Given the description of an element on the screen output the (x, y) to click on. 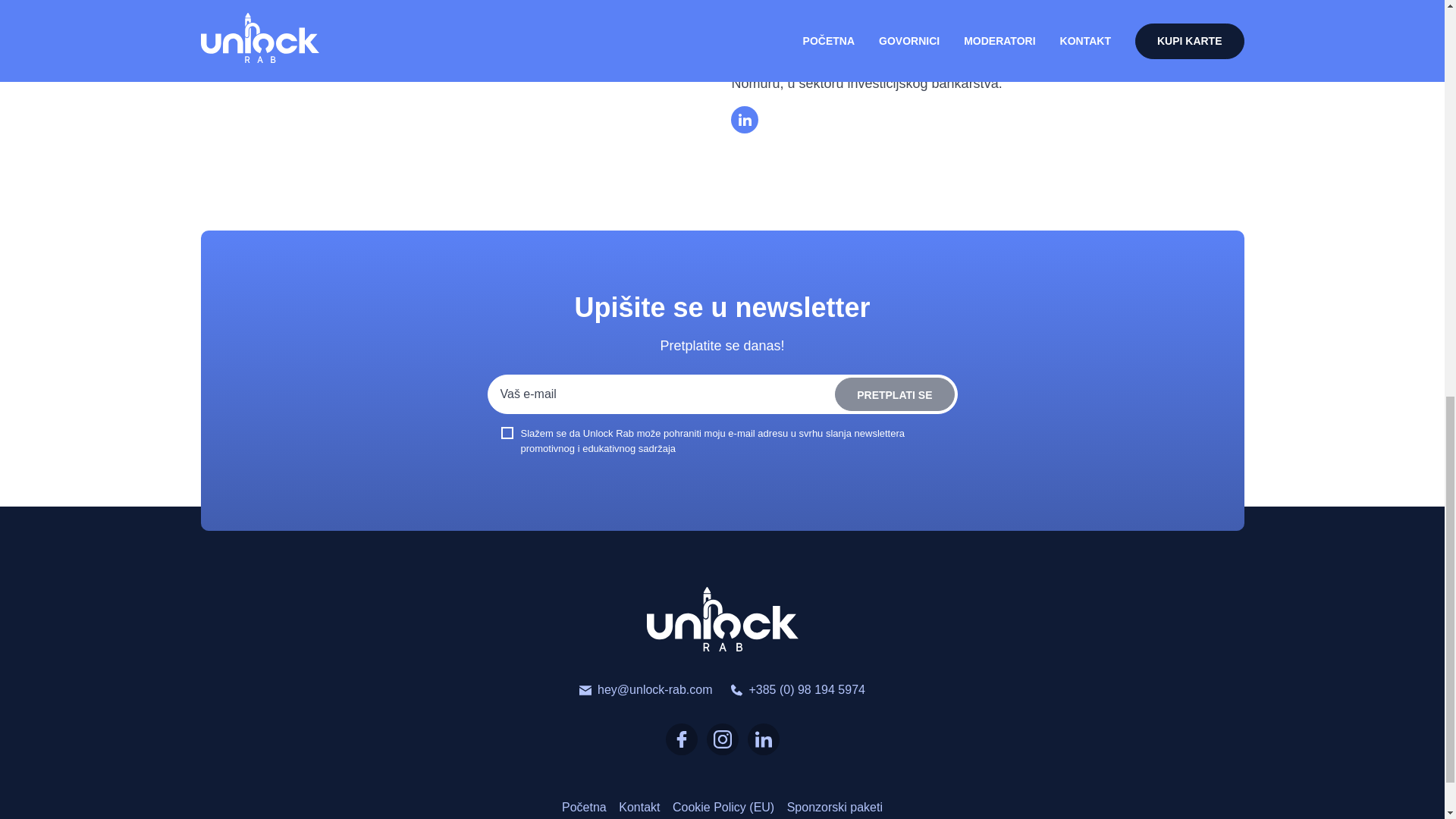
Sponzorski paketi (834, 807)
PRETPLATI SE (893, 394)
Kontakt (638, 807)
